Given the description of an element on the screen output the (x, y) to click on. 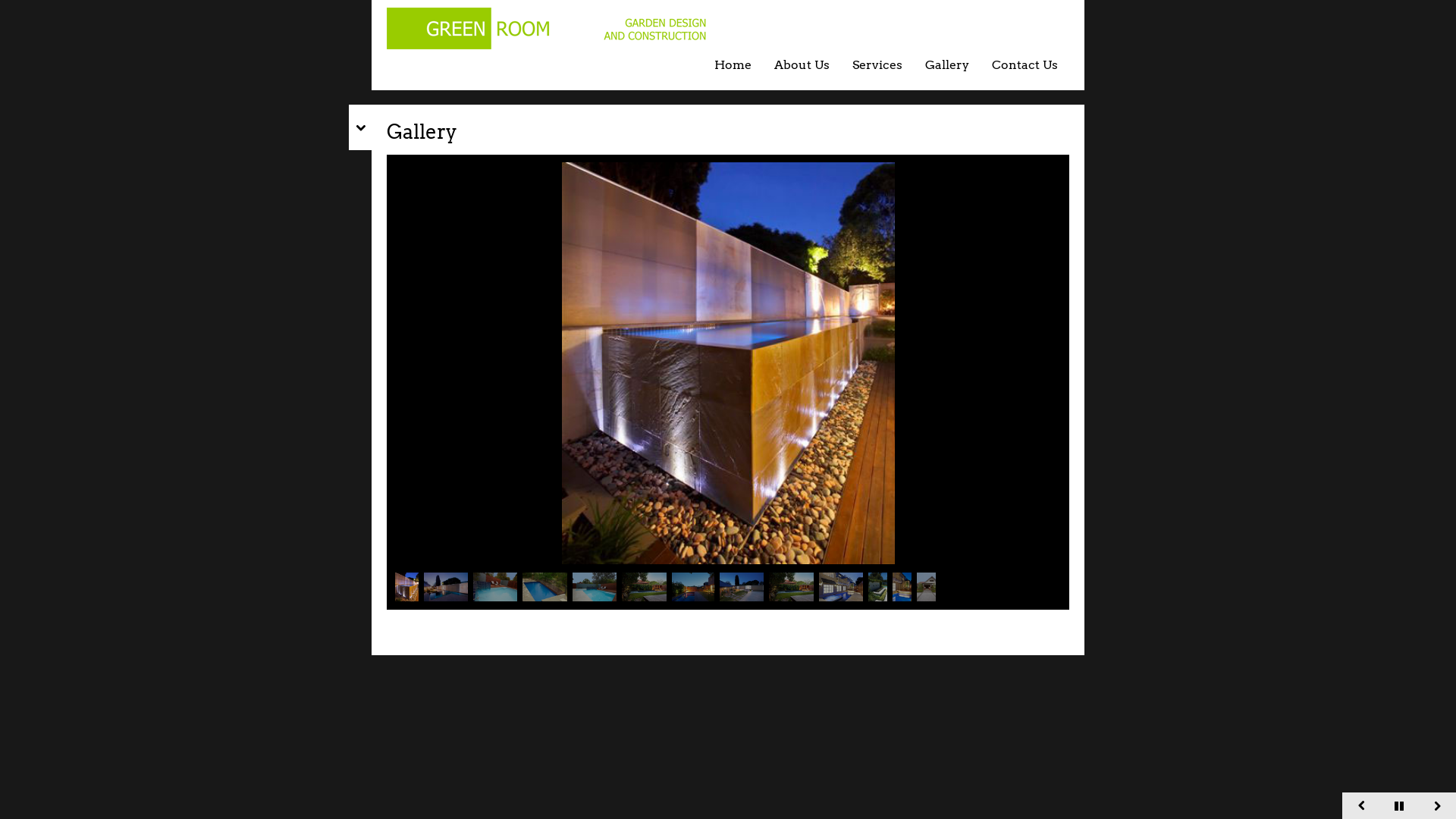
Home Element type: text (732, 65)
Gallery Element type: text (946, 65)
Services Element type: text (876, 65)
Contact Us Element type: text (1024, 65)
About Us Element type: text (801, 65)
